Given the description of an element on the screen output the (x, y) to click on. 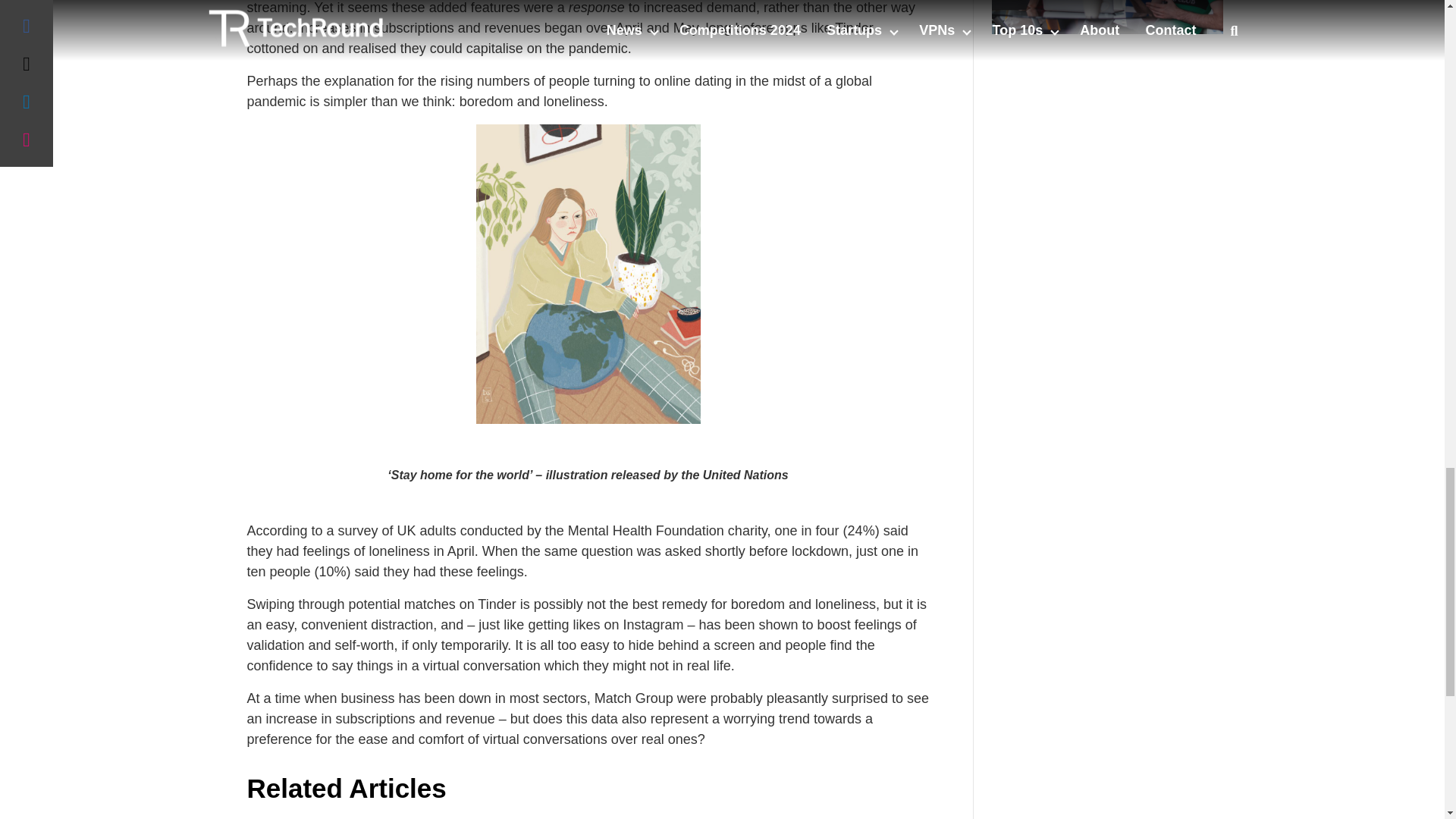
Enter The BAME Top 50 Entrepreneurs - Deadline 10th Nov 2021 (1107, 17)
